Given the description of an element on the screen output the (x, y) to click on. 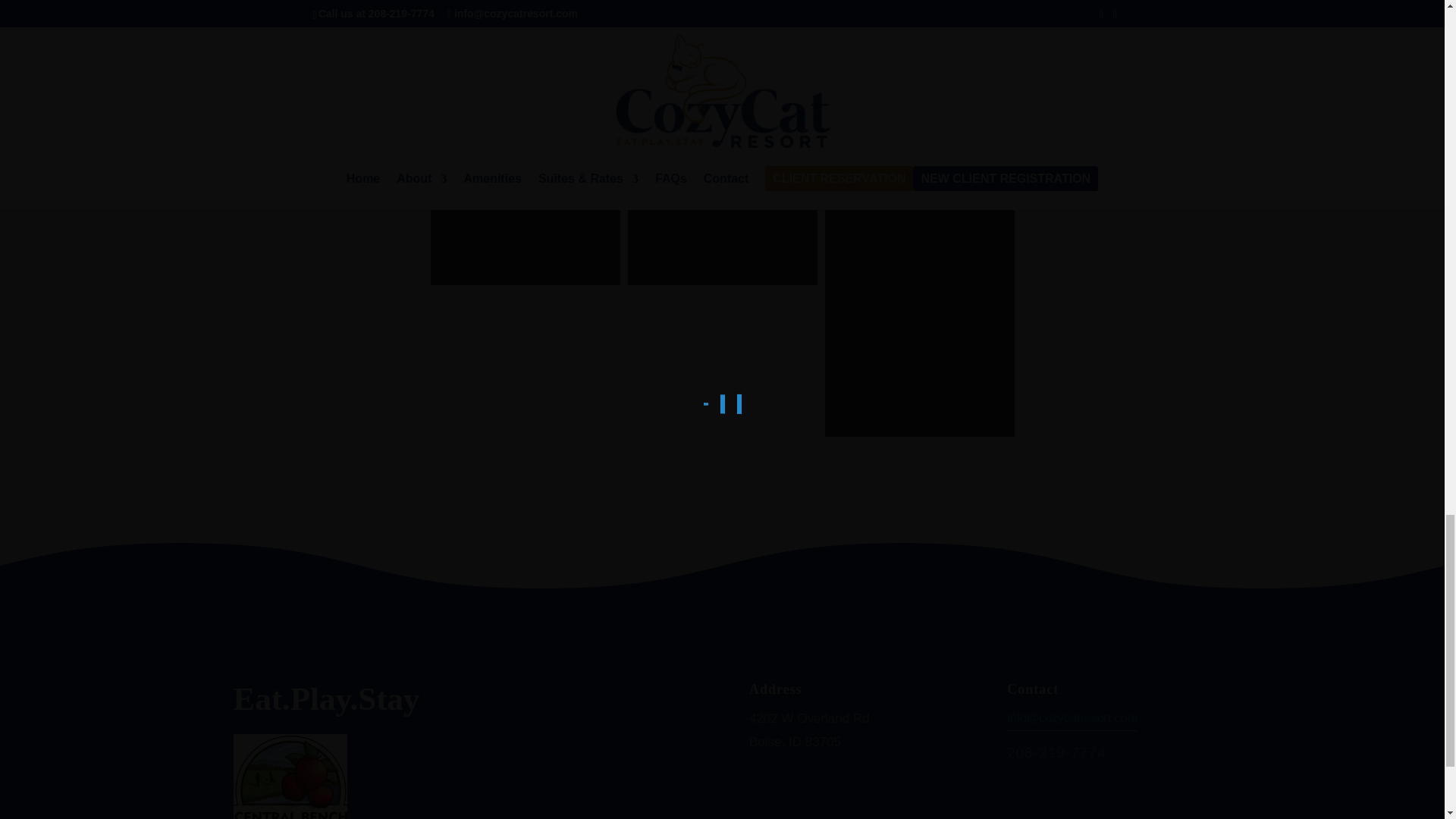
Central Bench (289, 776)
